Given the description of an element on the screen output the (x, y) to click on. 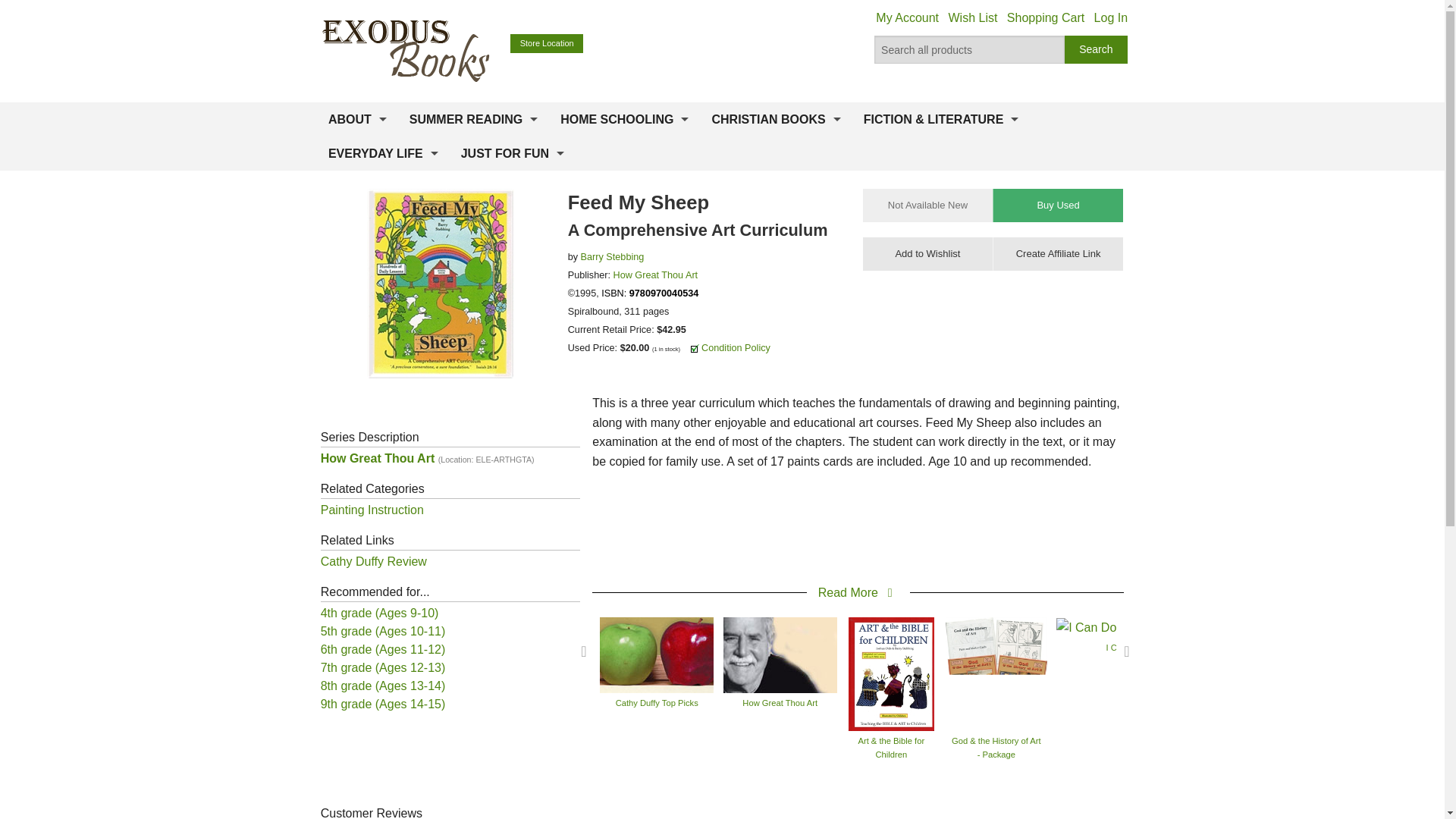
Search (1096, 49)
How Great Thou Art (654, 275)
Search (1096, 49)
CHRISTIAN BOOKS (775, 119)
Not Available New (927, 205)
Condition Policy (735, 347)
SUMMER READING (472, 119)
add used to cart (1057, 205)
ABOUT (357, 119)
Search (1096, 49)
